Given the description of an element on the screen output the (x, y) to click on. 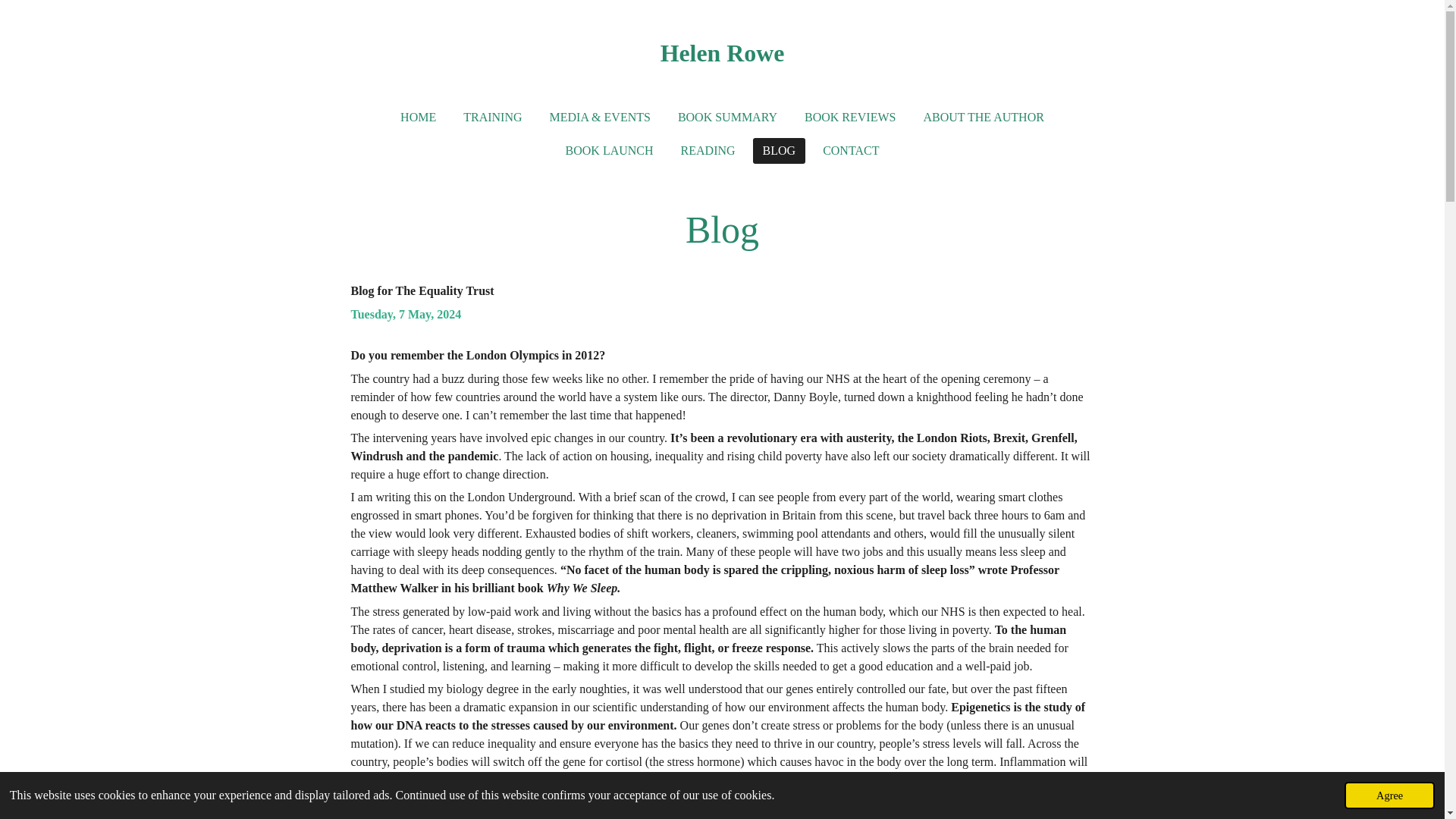
BLOG (779, 150)
BOOK LAUNCH (609, 150)
BOOK SUMMARY (727, 117)
READING (708, 150)
CONTACT (850, 150)
ABOUT THE AUTHOR (982, 117)
BOOK REVIEWS (849, 117)
TRAINING (491, 117)
HOME (417, 117)
Helen Rowe (722, 51)
